Given the description of an element on the screen output the (x, y) to click on. 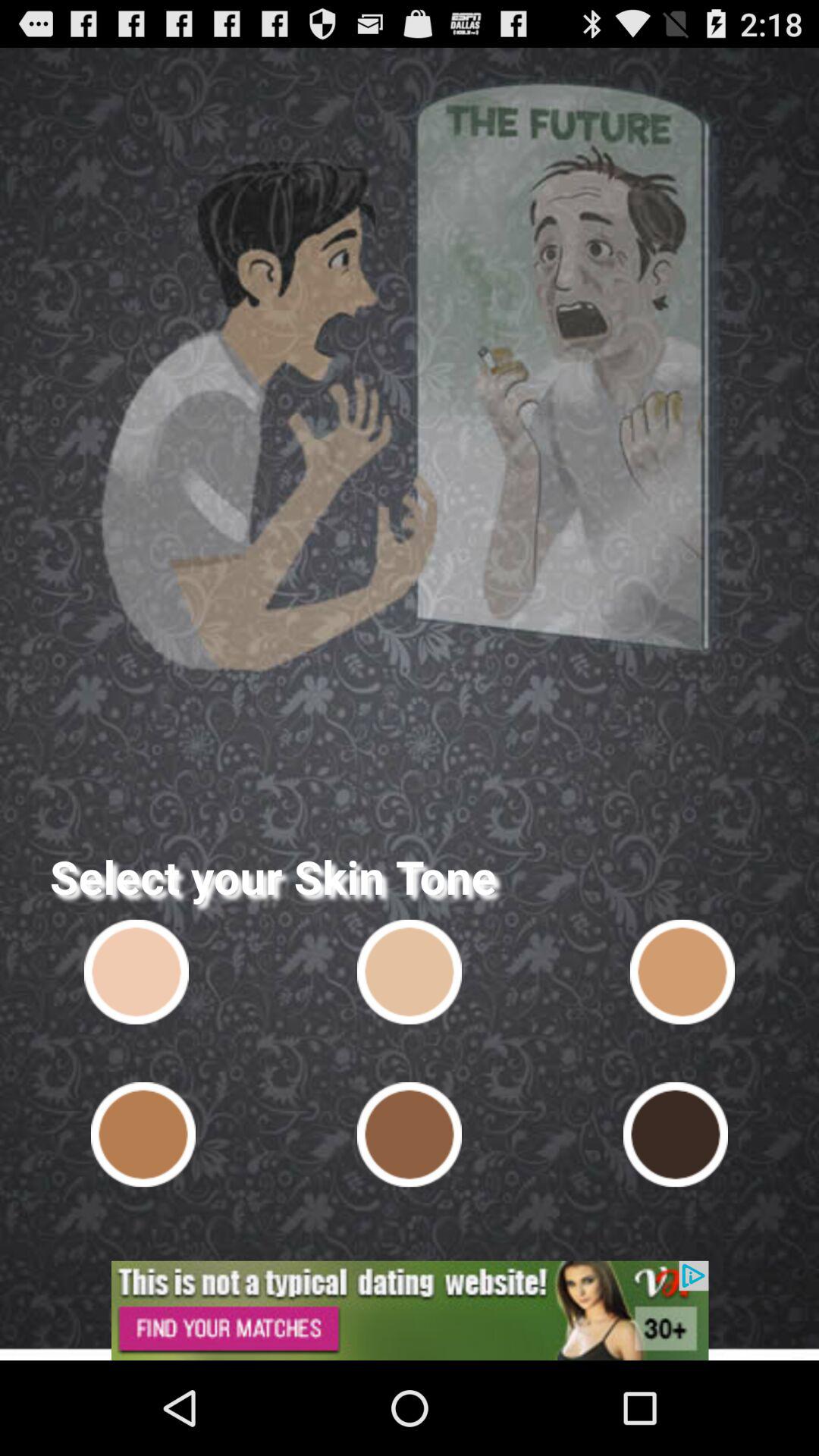
select skin tone (409, 1134)
